Given the description of an element on the screen output the (x, y) to click on. 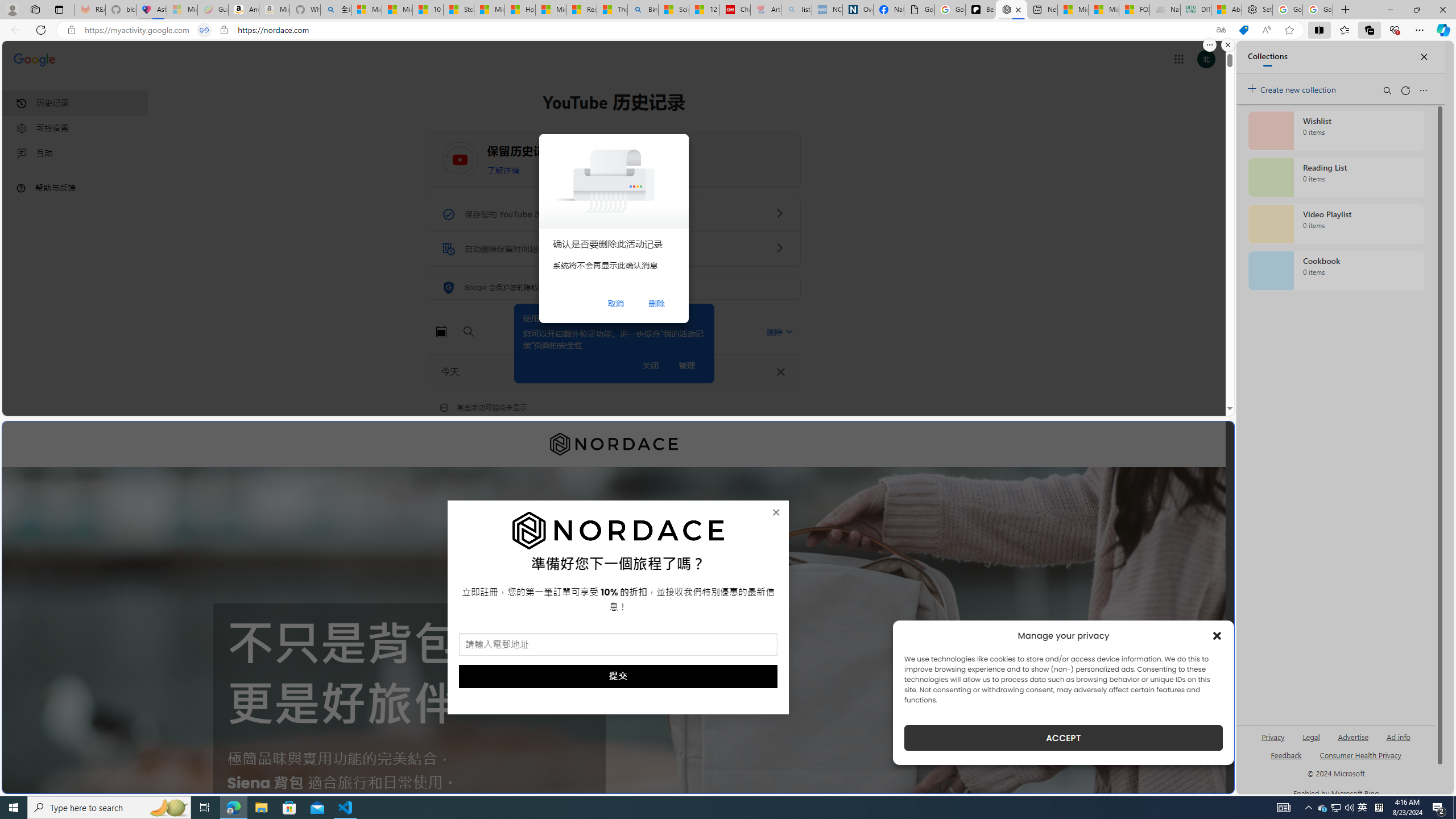
Close split screen. (1227, 45)
Bing (642, 9)
Asthma Inhalers: Names and Types (151, 9)
AutomationID: field_5_1 (617, 645)
AutomationID: genId96 (1285, 759)
Arthritis: Ask Health Professionals - Sleeping (765, 9)
